Given the description of an element on the screen output the (x, y) to click on. 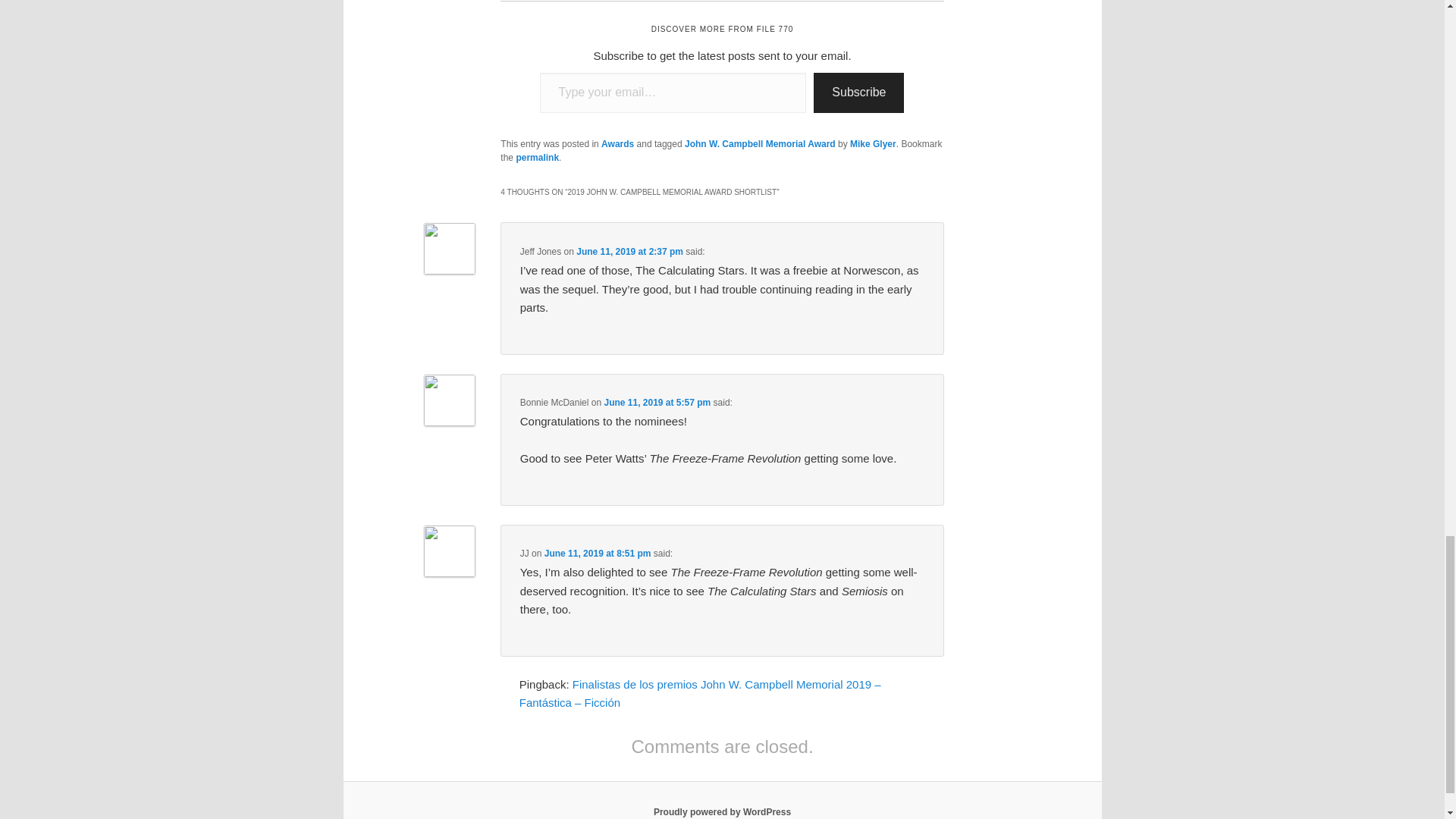
Mike Glyer (873, 143)
John W. Campbell Memorial Award (759, 143)
Permalink to 2019 John W. Campbell Memorial Award Shortlist (537, 157)
June 11, 2019 at 2:37 pm (629, 251)
Proudly powered by WordPress (721, 811)
Subscribe (858, 92)
Semantic Personal Publishing Platform (721, 811)
Please fill in this field. (673, 92)
June 11, 2019 at 8:51 pm (597, 552)
permalink (537, 157)
Awards (617, 143)
June 11, 2019 at 5:57 pm (657, 402)
